Given the description of an element on the screen output the (x, y) to click on. 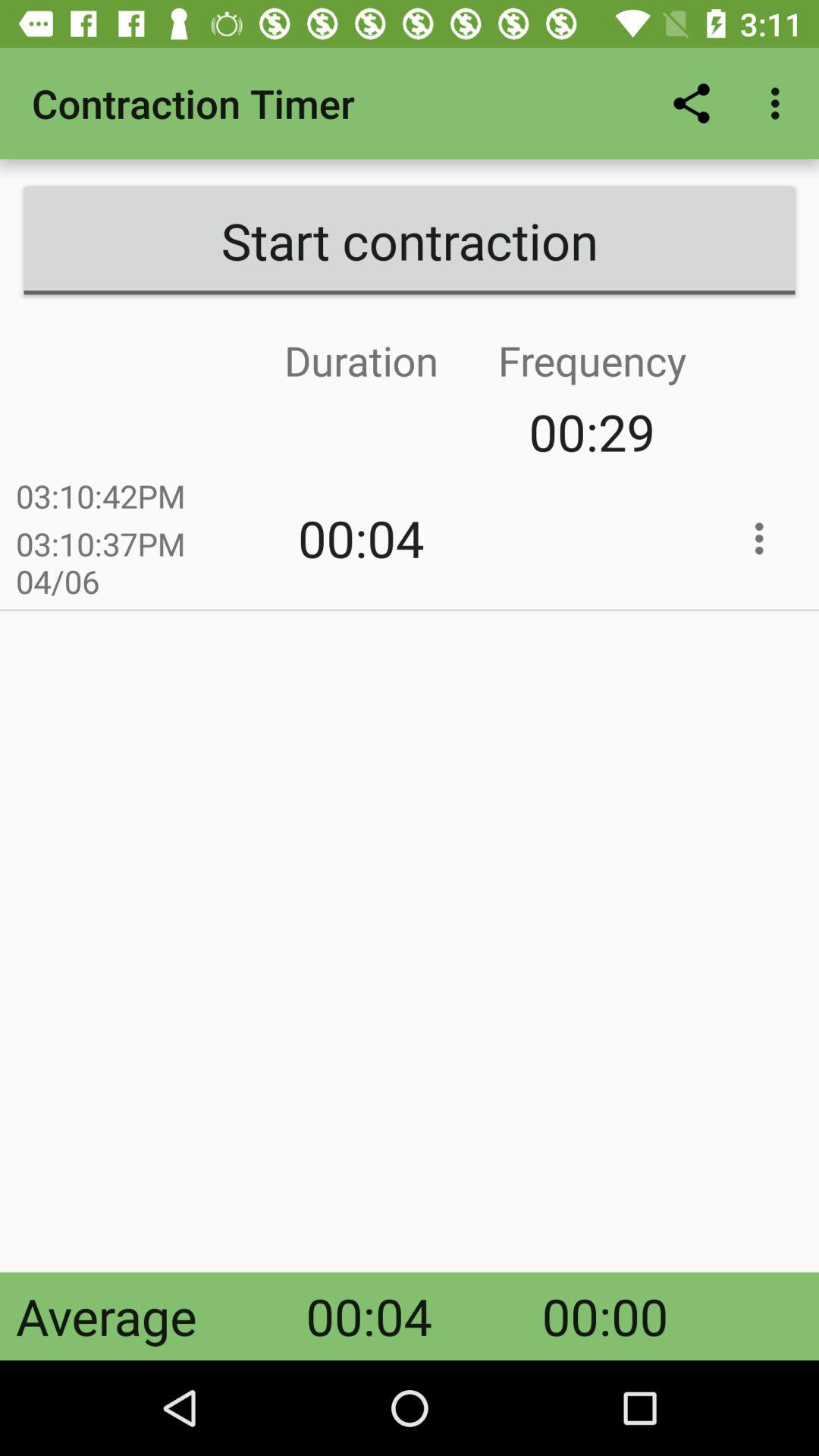
tap app to the left of frequency icon (245, 431)
